Given the description of an element on the screen output the (x, y) to click on. 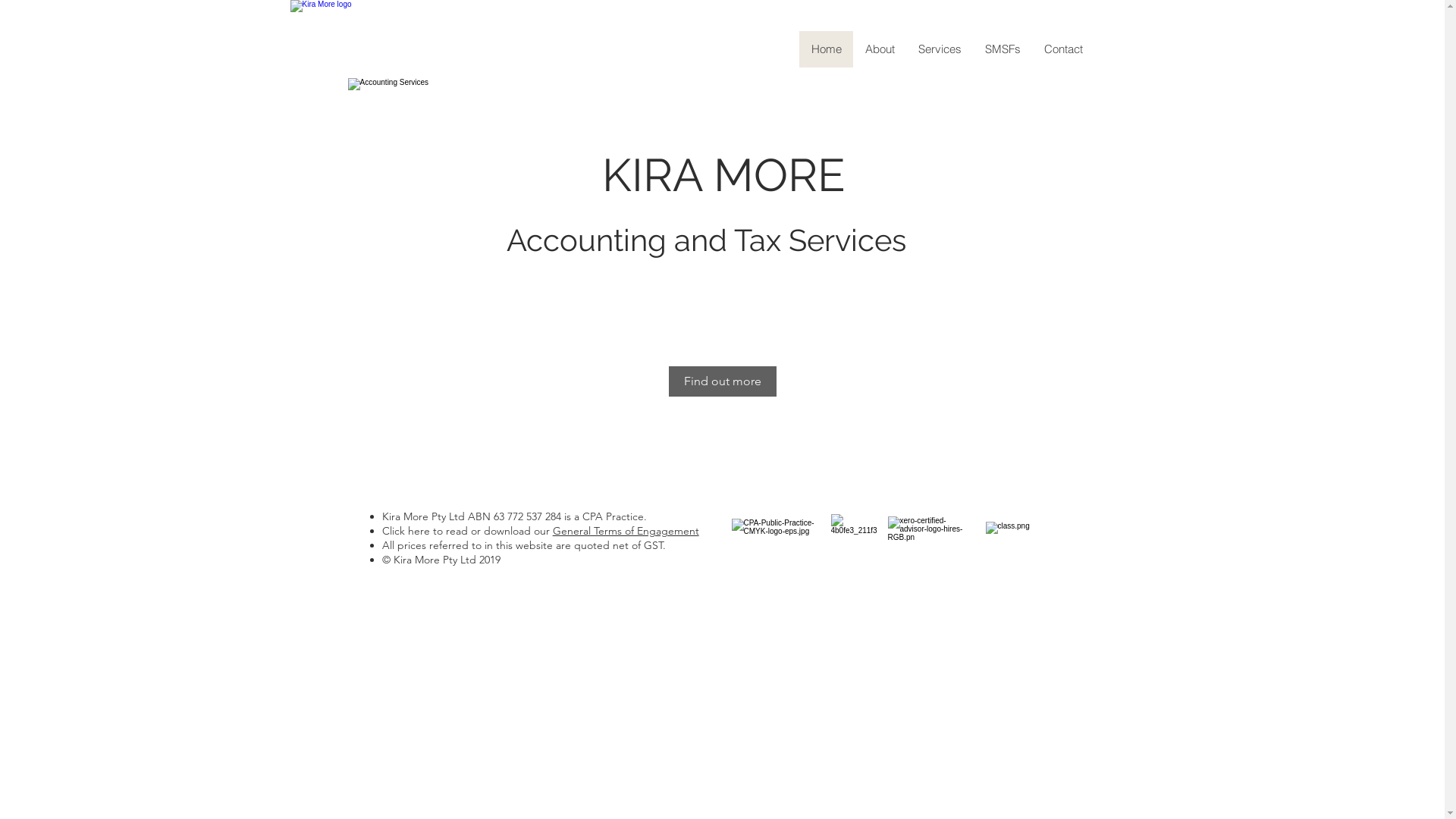
Contact Element type: text (1062, 49)
Services Element type: text (938, 49)
About Element type: text (878, 49)
SMSFs Element type: text (1001, 49)
Home Element type: text (826, 49)
Find out more Element type: text (722, 381)
Kira More logo, link to homepage Element type: hover (360, 71)
General Terms of Engagement Element type: text (625, 530)
